Given the description of an element on the screen output the (x, y) to click on. 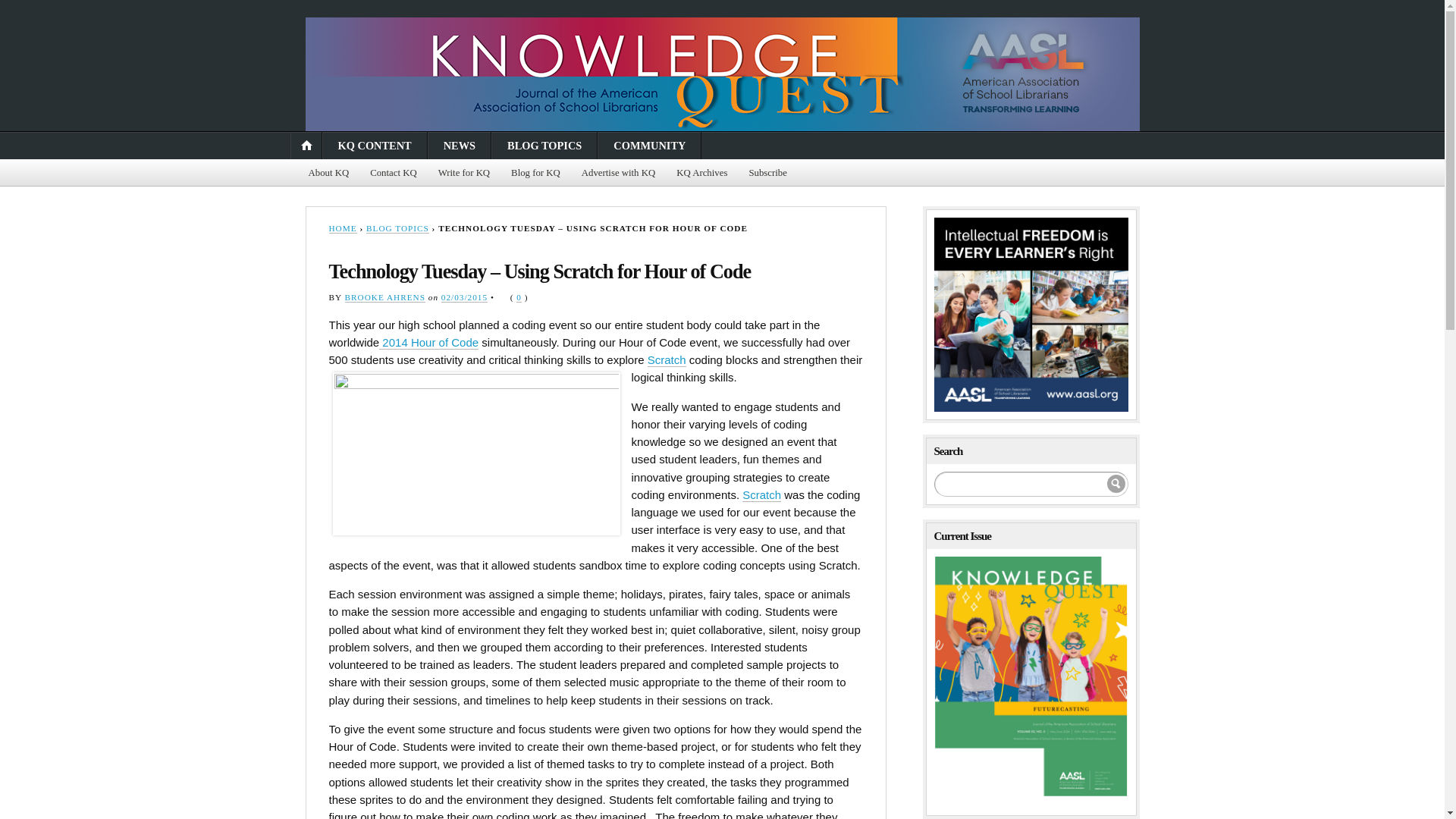
Contact KQ (393, 172)
5:00 am (464, 297)
HOME (342, 228)
View all posts by Brooke Ahrens (385, 297)
COMMUNITY (649, 144)
About KQ (328, 172)
KQ Archives (701, 172)
Blog for KQ (535, 172)
Write for KQ (464, 172)
Advertise with KQ (617, 172)
